Given the description of an element on the screen output the (x, y) to click on. 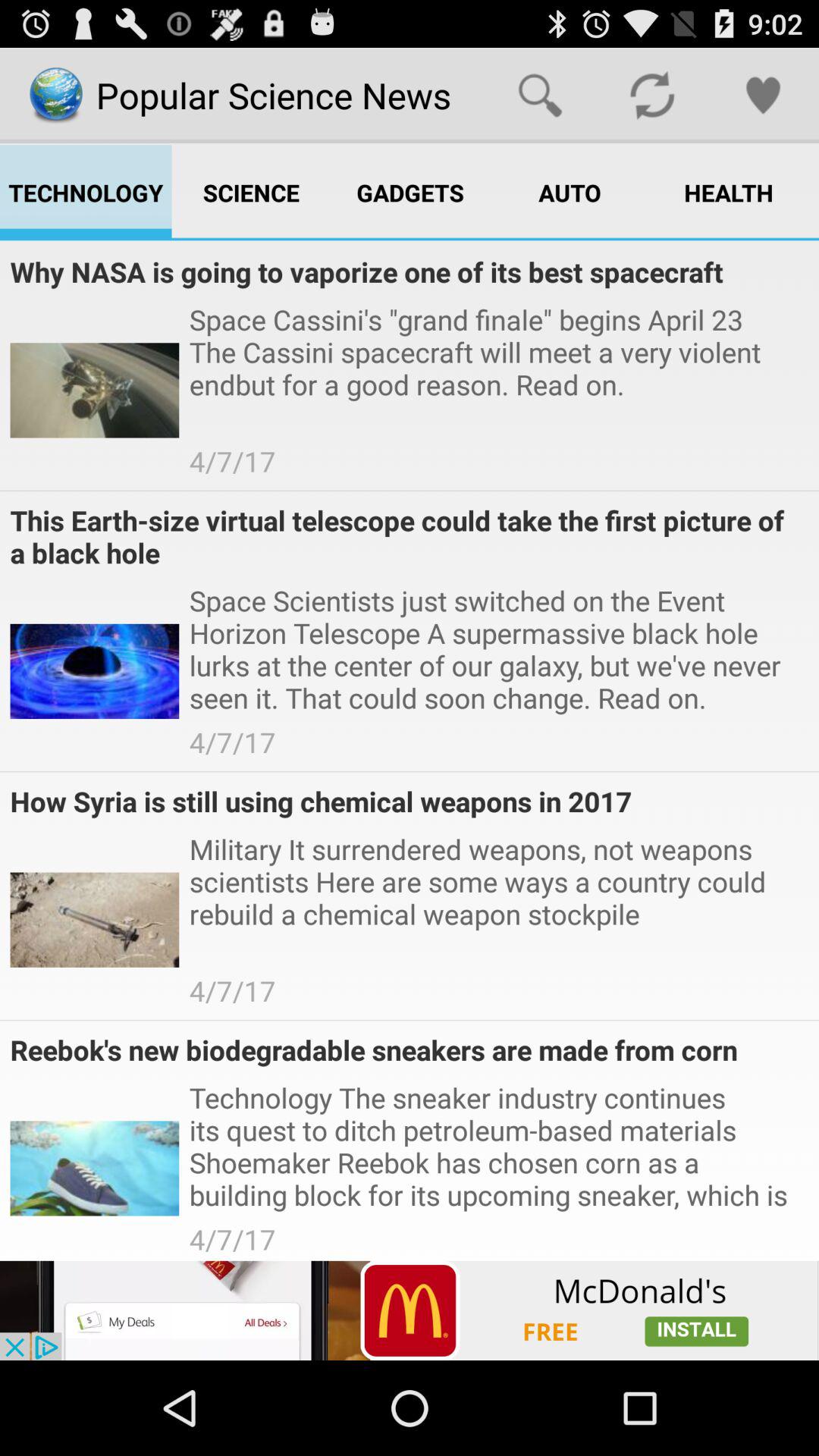
add the picture (409, 1310)
